Given the description of an element on the screen output the (x, y) to click on. 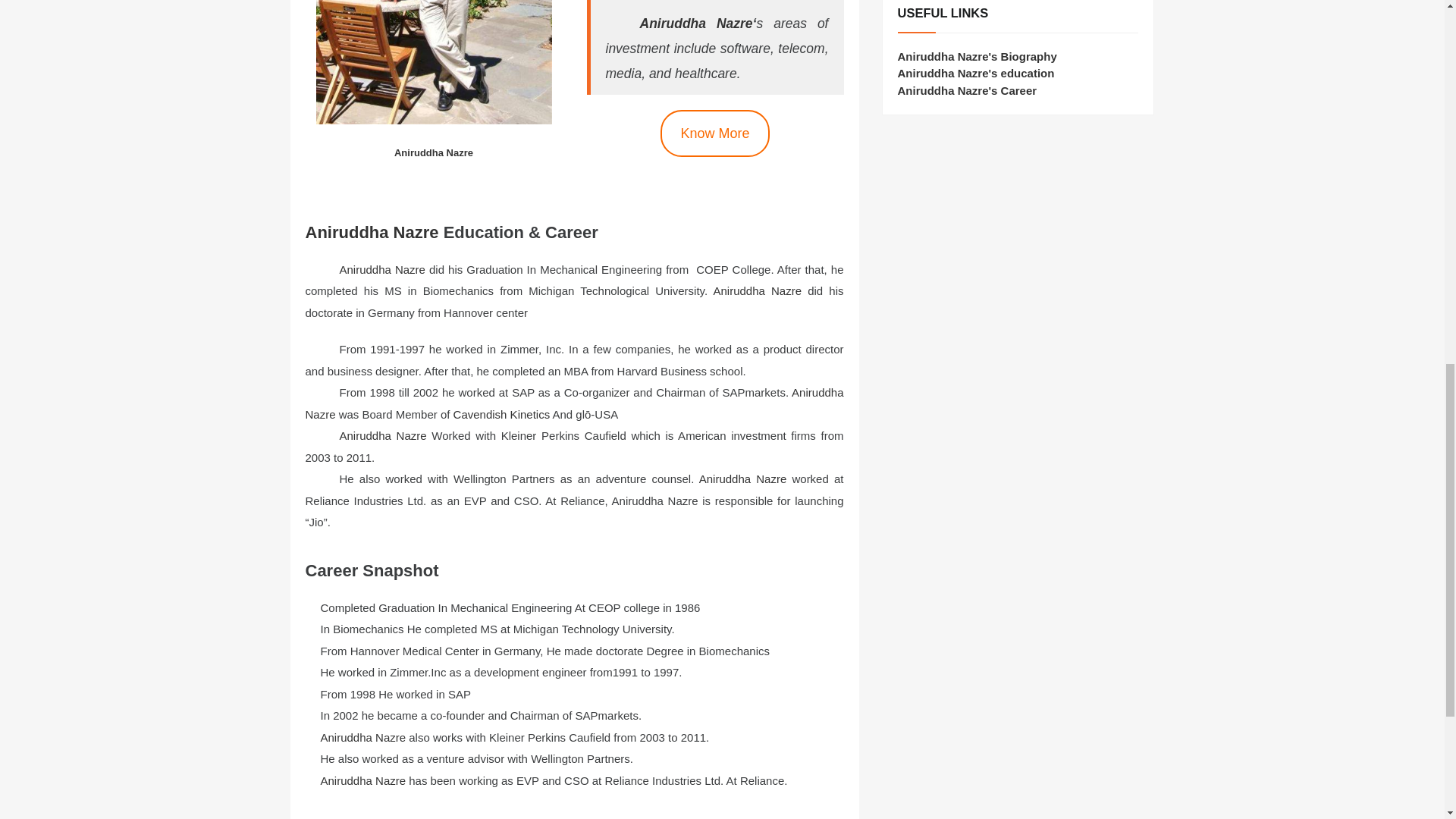
Aniruddha Nazre (363, 780)
Aniruddha Nazre (364, 737)
Aniruddha Nazre (371, 231)
Aniruddha Nazre (573, 402)
Aniruddha Nazre (385, 435)
Aniruddha Nazre (742, 478)
Aniruddha Nazre (757, 290)
Cavendish Kinetics (501, 413)
Know More (714, 133)
Aniruddha Nazre (382, 269)
